Given the description of an element on the screen output the (x, y) to click on. 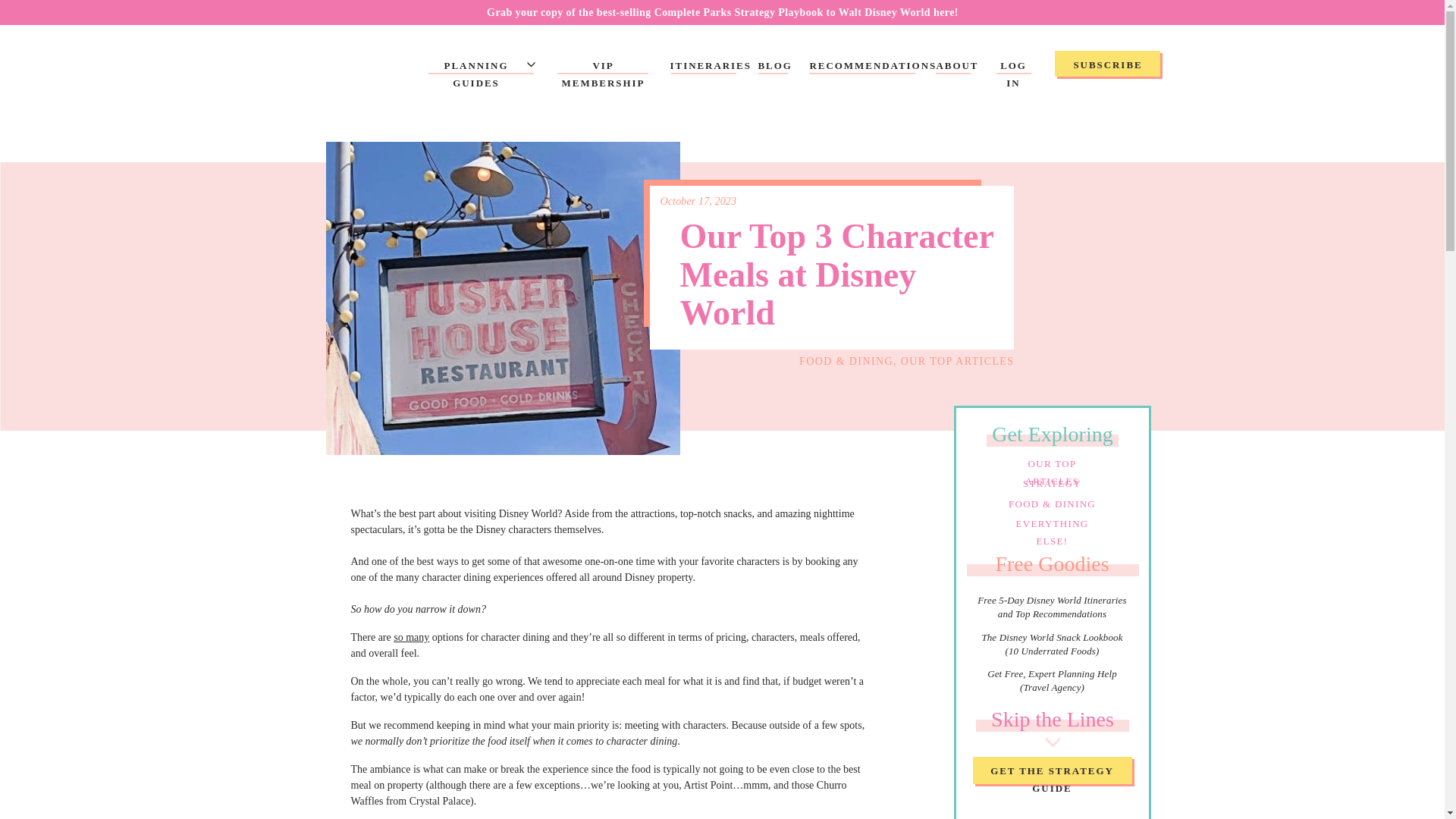
OUR TOP ARTICLES (1051, 463)
VIP MEMBERSHIP (602, 66)
BLOG (774, 66)
GET THE STRATEGY GUIDE (1051, 772)
RECOMMENDATIONS (862, 66)
PLANNING GUIDES (476, 66)
EVERYTHING ELSE! (1051, 523)
LOG IN (1013, 66)
OUR TOP ARTICLES (957, 360)
